Given the description of an element on the screen output the (x, y) to click on. 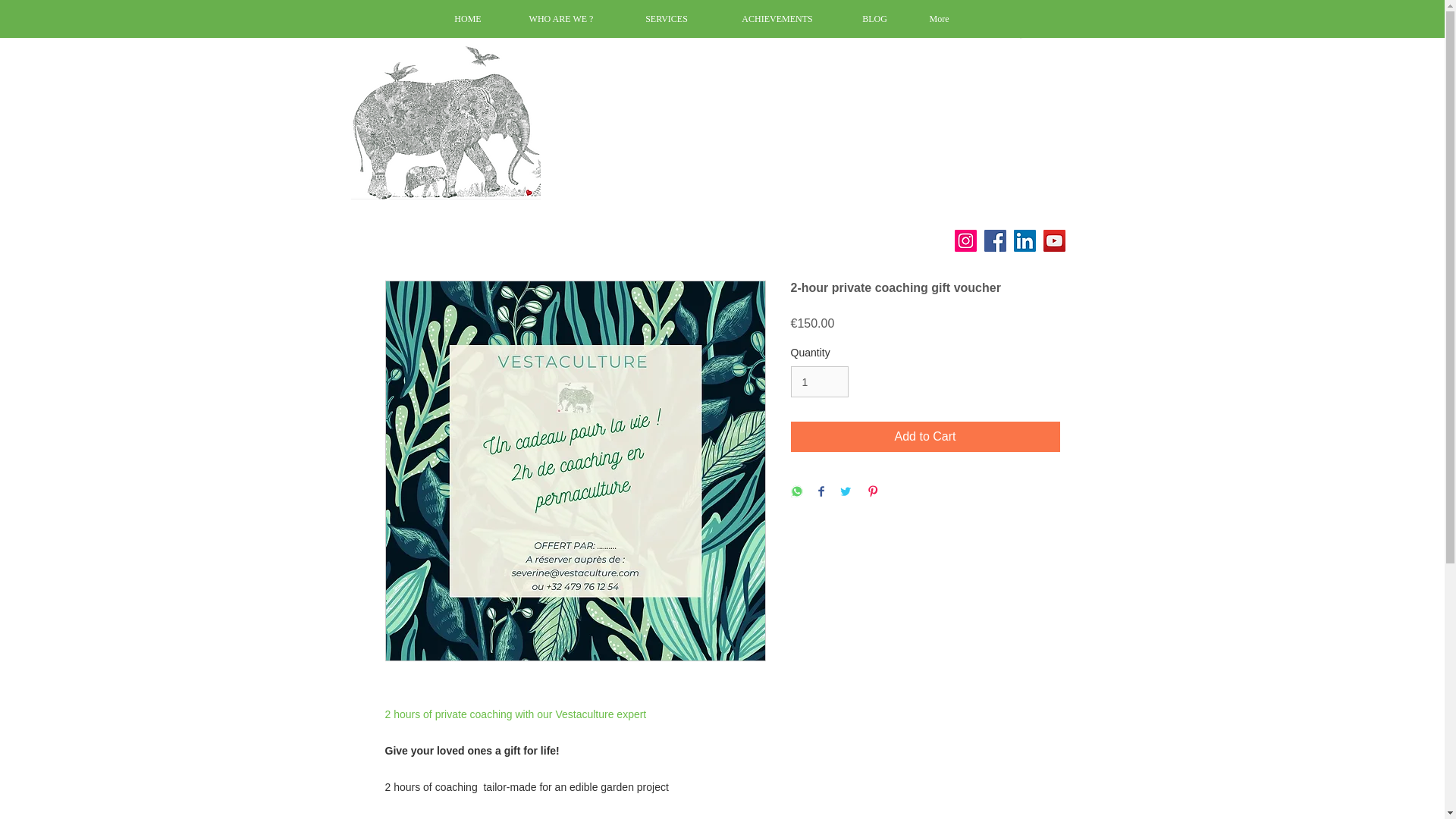
BLOG (874, 18)
SERVICES (665, 18)
HOME (466, 18)
Add to Cart (924, 436)
ACHIEVEMENTS (778, 18)
1 (818, 381)
WHO ARE WE ? (561, 18)
